Given the description of an element on the screen output the (x, y) to click on. 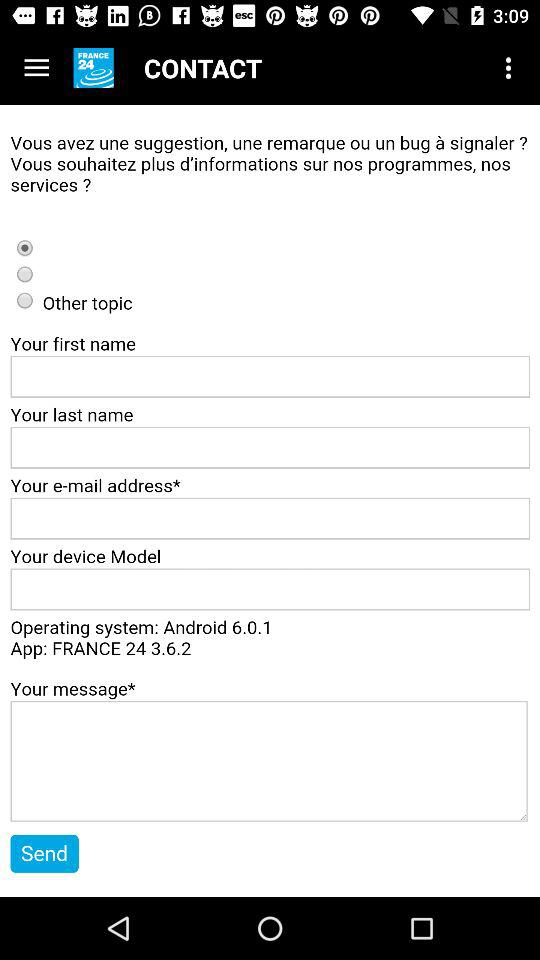
click to view menu options (36, 68)
